Given the description of an element on the screen output the (x, y) to click on. 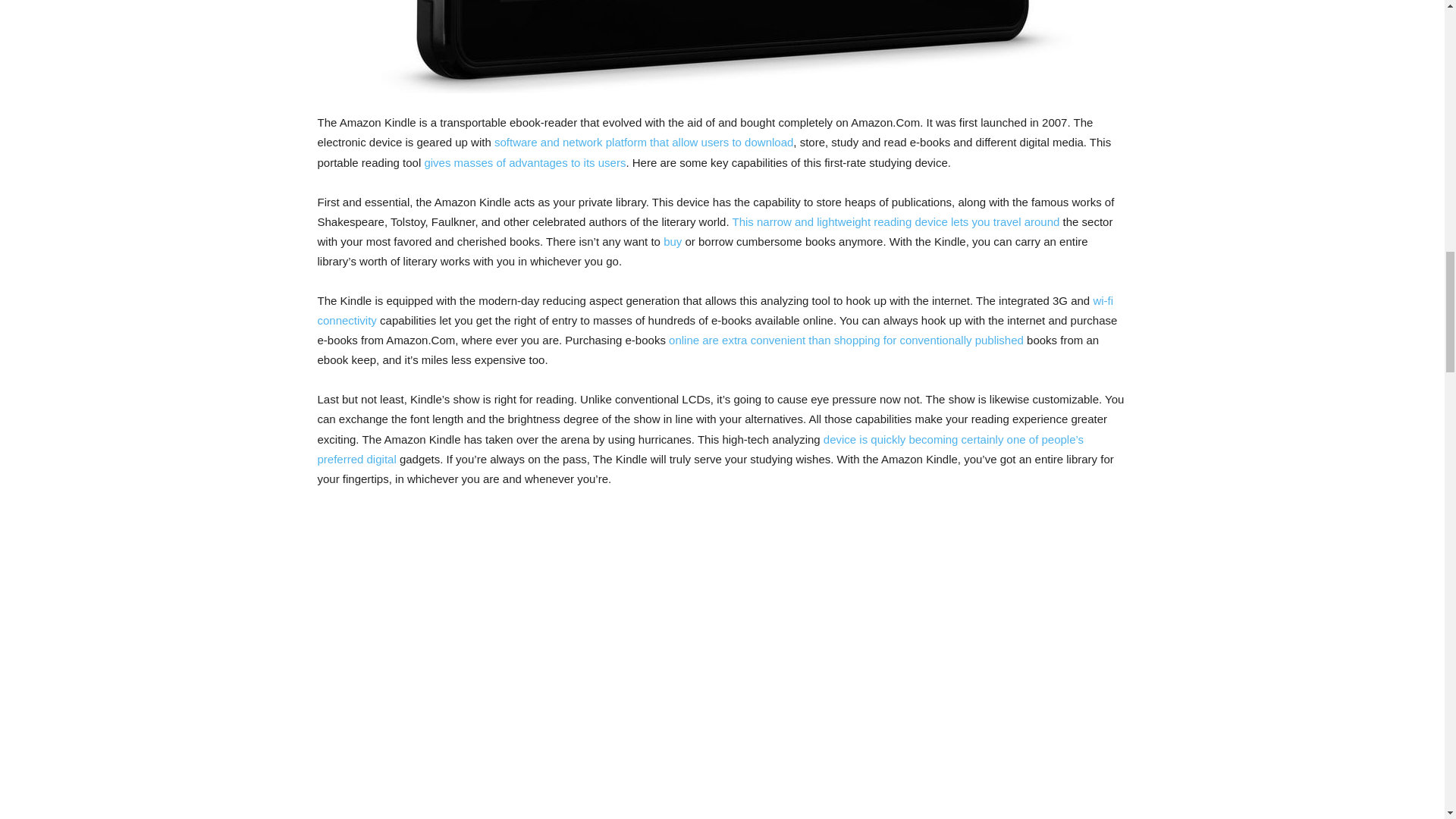
The Advantages of Amazon Kindle 1 (722, 46)
